Given the description of an element on the screen output the (x, y) to click on. 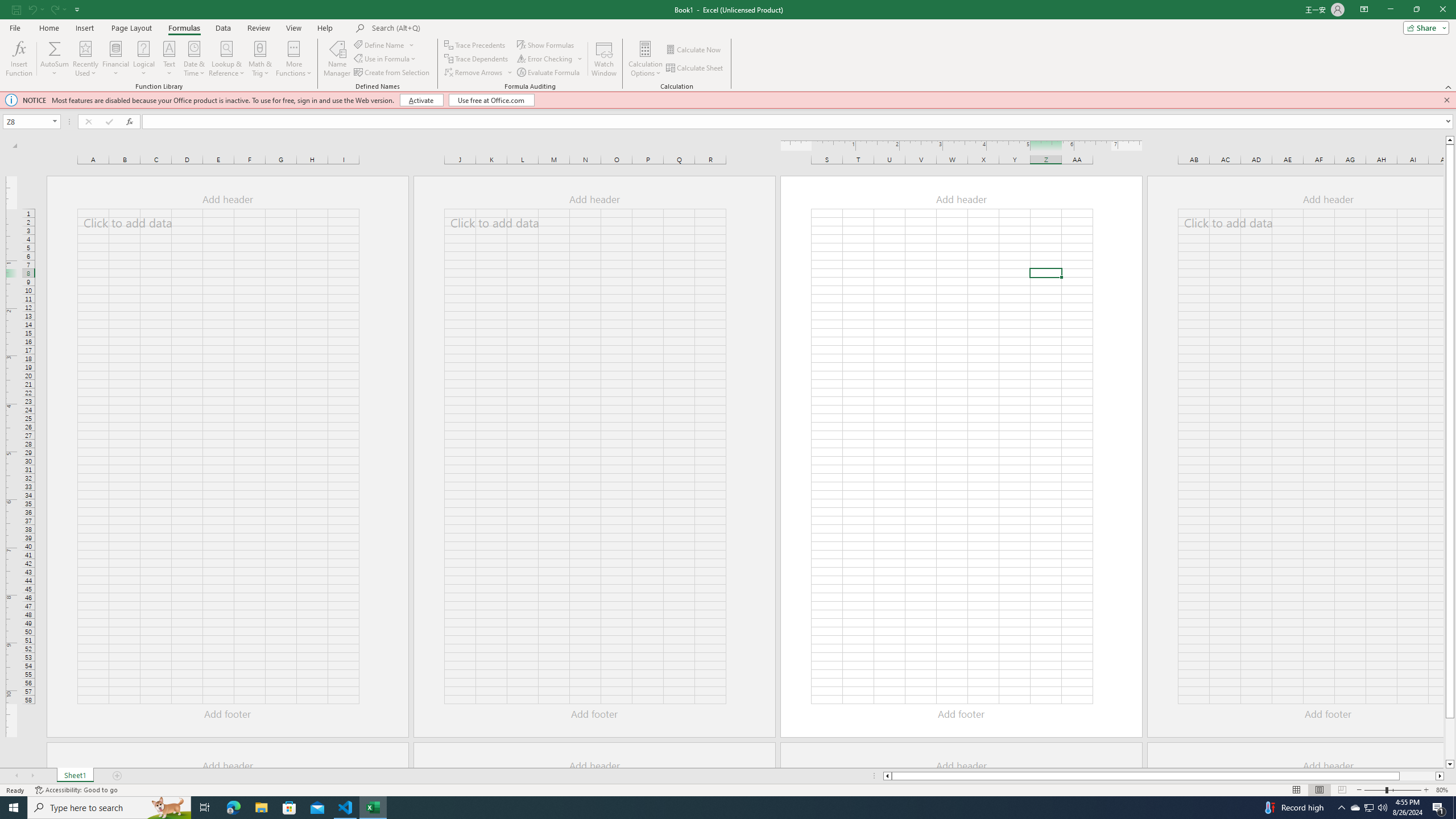
Close this message (1446, 99)
Evaluate Formula (549, 72)
Error Checking... (545, 58)
Financial (116, 58)
Watch Window (603, 58)
Text (169, 58)
Activate (422, 100)
Name Manager (336, 58)
Error Checking... (550, 58)
